Given the description of an element on the screen output the (x, y) to click on. 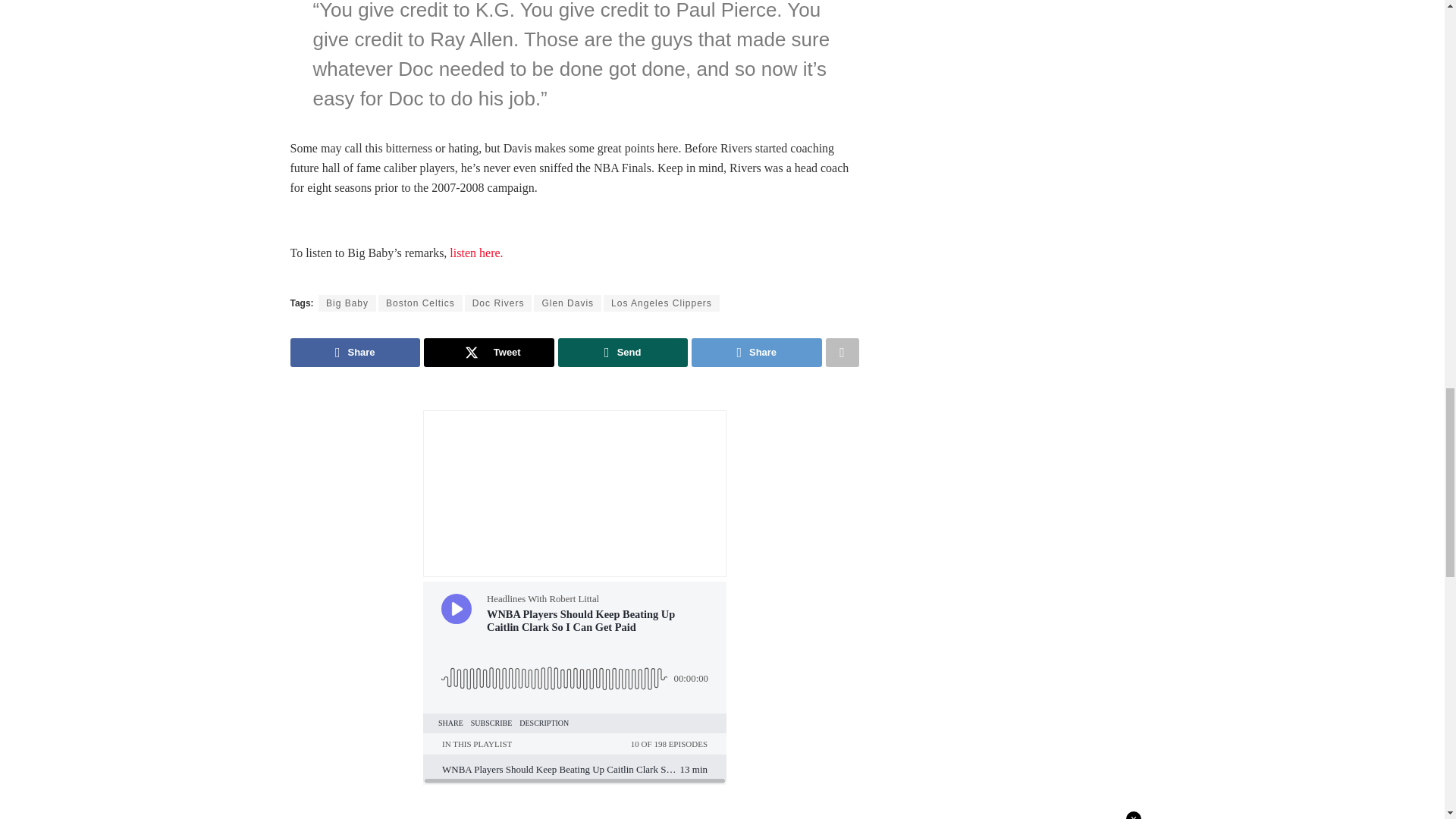
Big Baby (346, 303)
Los Angeles Clippers (661, 303)
Glen Davis (567, 303)
Share (756, 352)
listen here.  (477, 252)
Share (354, 352)
Tweet (488, 352)
Send (622, 352)
Boston Celtics (420, 303)
Doc Rivers (498, 303)
